Given the description of an element on the screen output the (x, y) to click on. 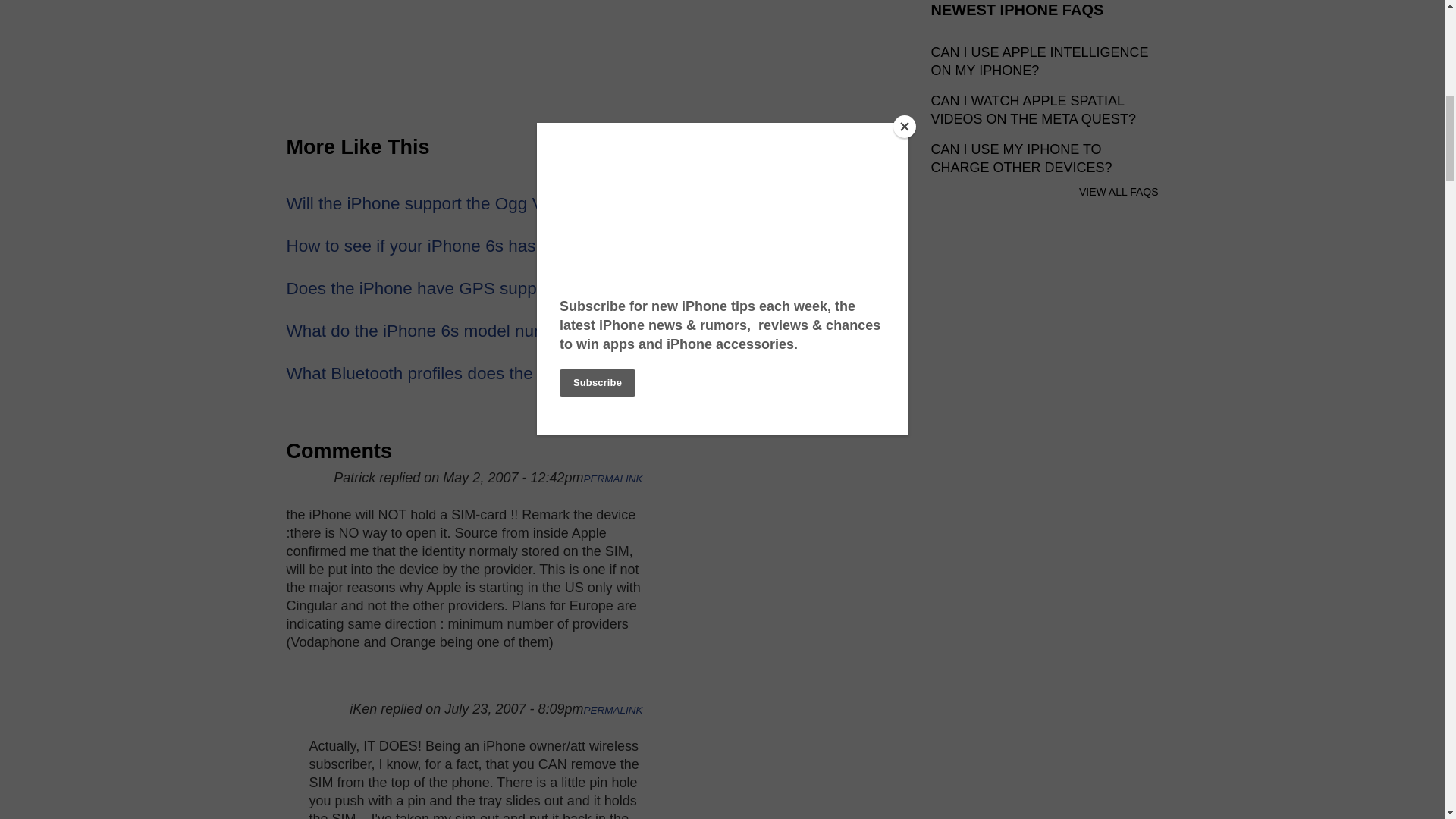
What do the iPhone 6s model numbers mean? (462, 330)
What Bluetooth profiles does the iPhone support? (474, 373)
Does the iPhone have GPS support? (426, 288)
PERMALINK (612, 478)
PERMALINK (612, 709)
CAN I USE APPLE INTELLIGENCE ON MY IPHONE? (1039, 61)
How to see if your iPhone 6s has a TSMC or Samsung A9 chip (523, 245)
VIEW ALL FAQS (1118, 191)
CAN I USE MY IPHONE TO CHARGE OTHER DEVICES? (1021, 158)
3rd party ad content (1044, 585)
Advertisement (593, 46)
CAN I WATCH APPLE SPATIAL VIDEOS ON THE META QUEST? (1033, 109)
